Given the description of an element on the screen output the (x, y) to click on. 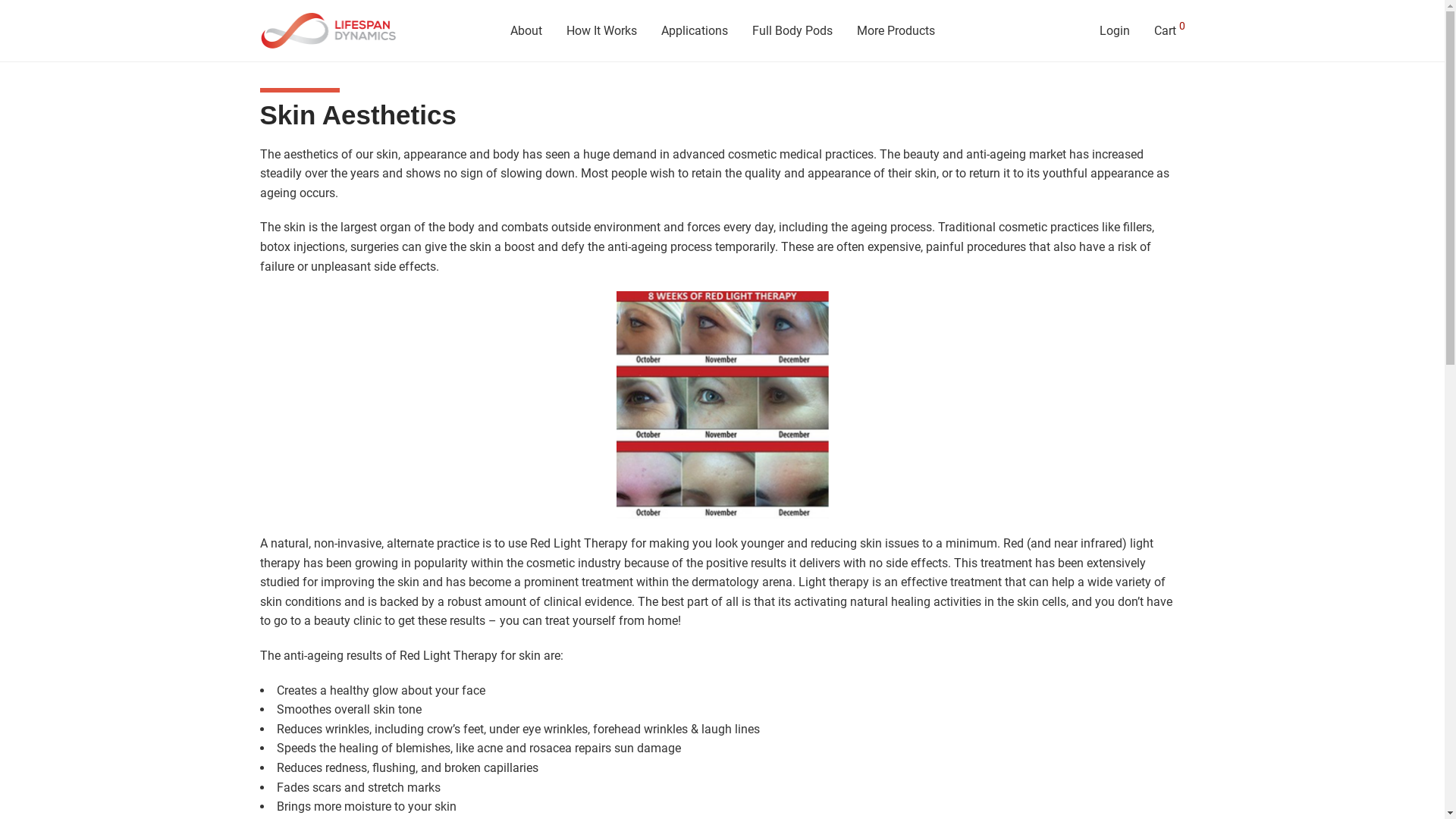
Login Element type: text (1114, 30)
Full Body Pods Element type: text (792, 30)
Cart 0 Element type: text (1169, 30)
Applications Element type: text (694, 30)
More Products Element type: text (895, 30)
How It Works Element type: text (600, 30)
About Element type: text (525, 30)
